Given the description of an element on the screen output the (x, y) to click on. 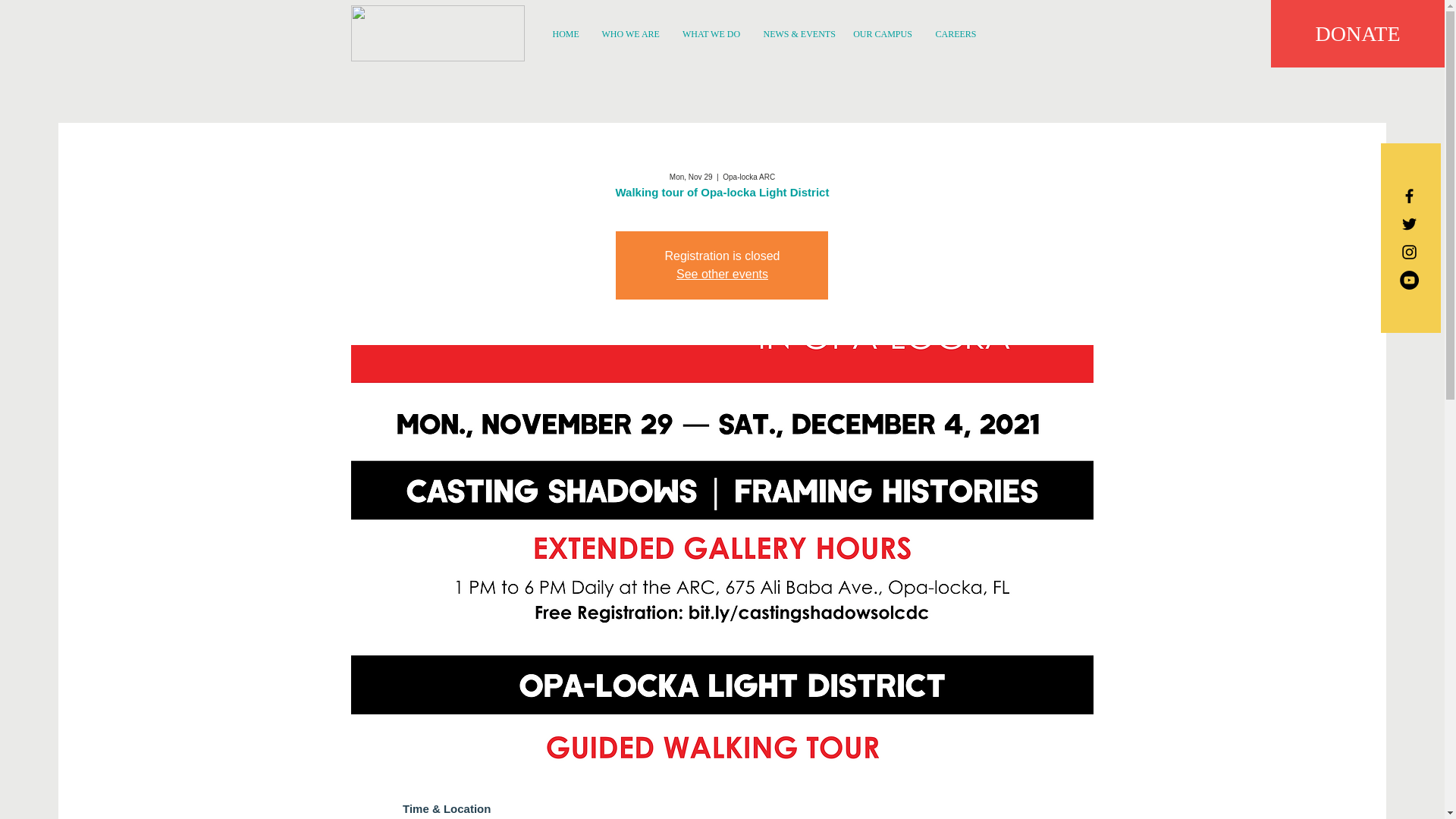
WHAT WE DO (710, 33)
WHO WE ARE (629, 33)
OUR CAMPUS (882, 33)
See other events (722, 273)
CAREERS (954, 33)
HOME (566, 33)
